Given the description of an element on the screen output the (x, y) to click on. 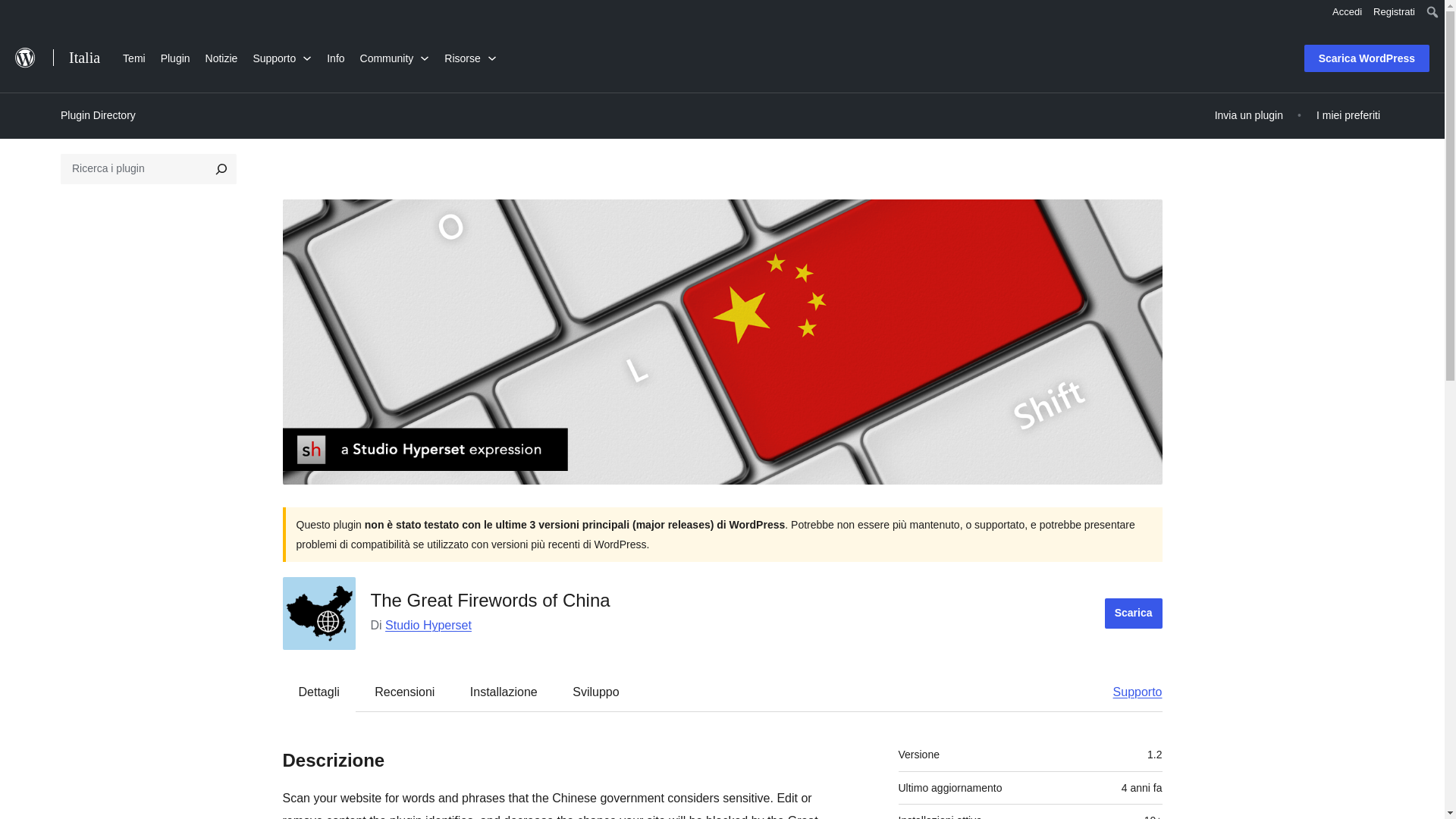
Cerca (14, 13)
Plugin Directory (97, 115)
Scarica WordPress (1366, 58)
Accedi (1347, 12)
Risorse (469, 56)
Registrati (1394, 12)
Supporto (281, 56)
Community (395, 56)
Invia un plugin (1249, 115)
